Given the description of an element on the screen output the (x, y) to click on. 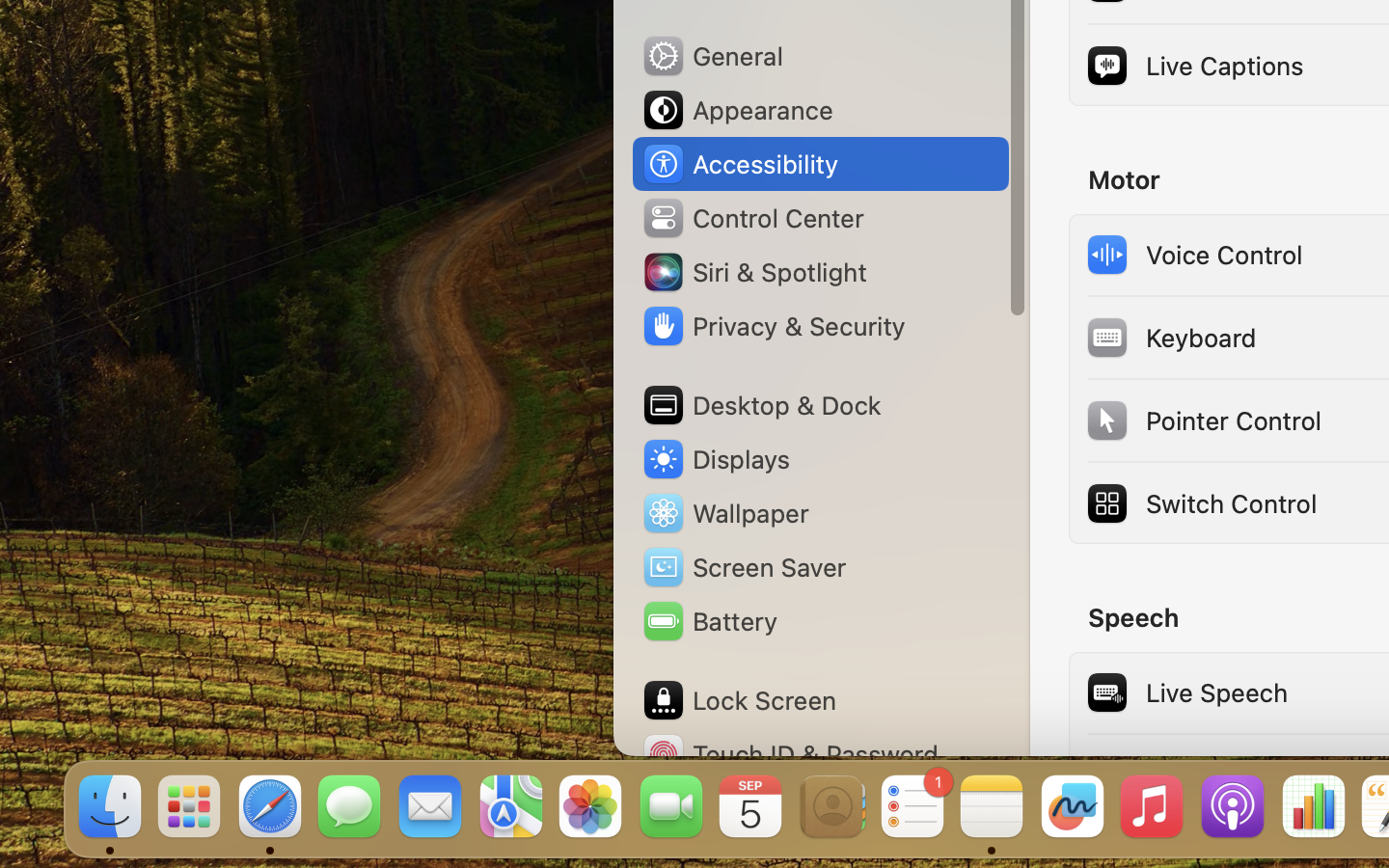
General Element type: AXStaticText (711, 55)
Control Center Element type: AXStaticText (752, 217)
Touch ID & Password Element type: AXStaticText (789, 754)
Lock Screen Element type: AXStaticText (738, 700)
Privacy & Security Element type: AXStaticText (772, 325)
